Given the description of an element on the screen output the (x, y) to click on. 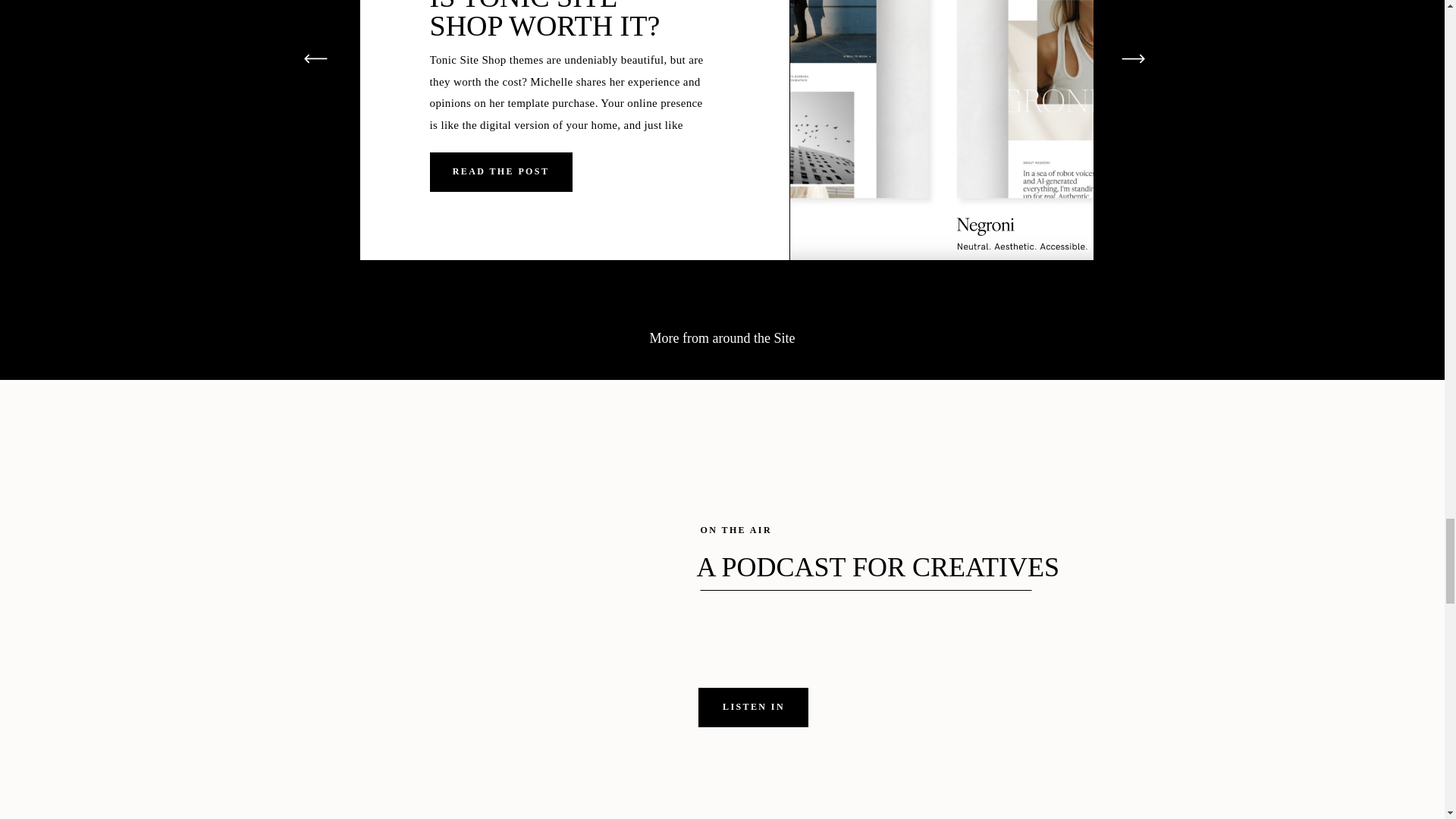
Is Tonic Site Shop Worth It? (499, 170)
Is Tonic Site Shop Worth It? (500, 171)
Is Tonic Site Shop Worth It? (941, 130)
